Given the description of an element on the screen output the (x, y) to click on. 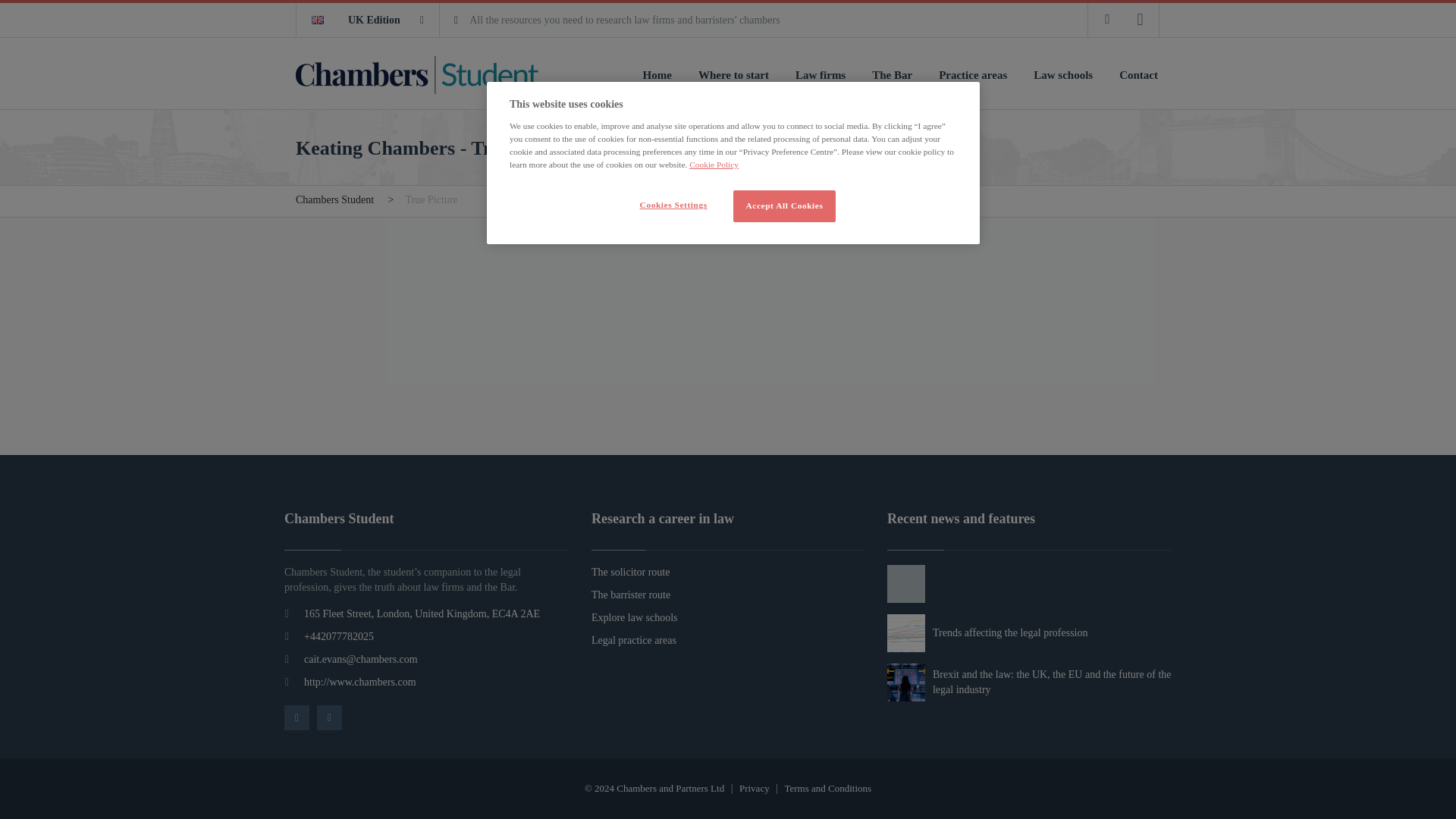
chambers associate twitter page (1139, 18)
Practice areas (973, 75)
chambers associate facebook page (1106, 18)
Where to start (733, 75)
Where to start (733, 75)
UK Edition (368, 19)
